Given the description of an element on the screen output the (x, y) to click on. 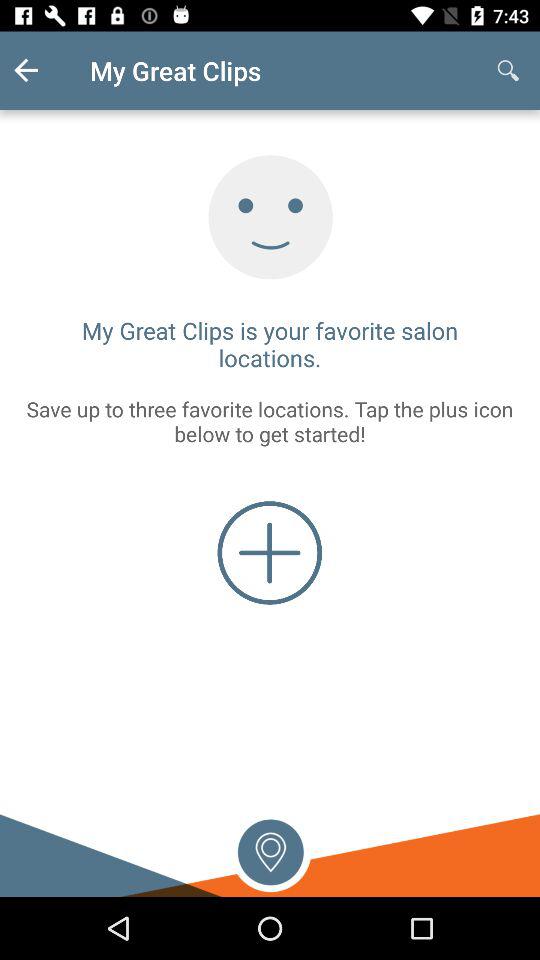
choose locations (270, 850)
